Given the description of an element on the screen output the (x, y) to click on. 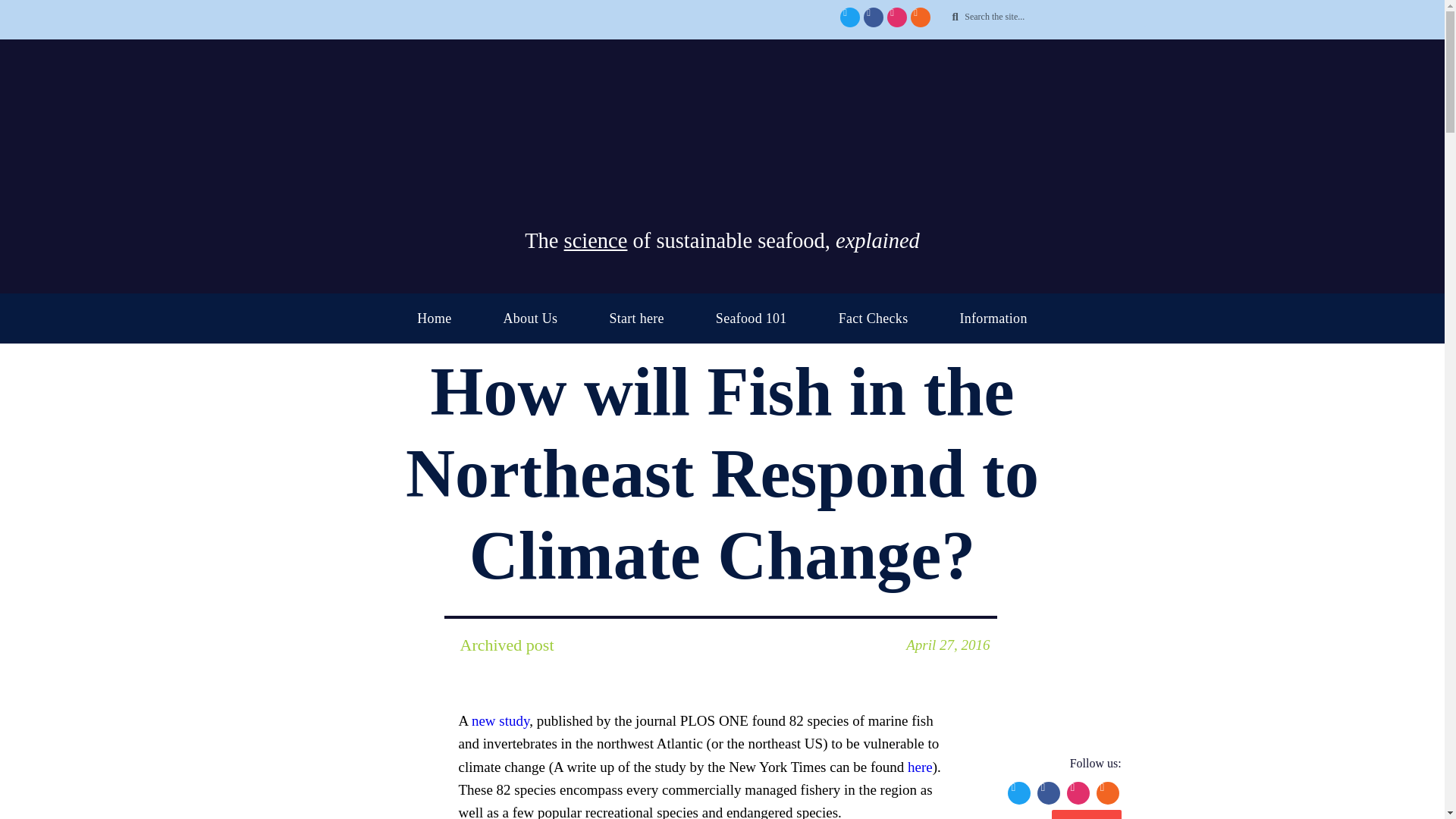
Start here (636, 318)
new study (500, 720)
About Us (529, 318)
Fact Checks (873, 318)
Seafood 101 (751, 318)
Information (992, 318)
Home (433, 318)
here (920, 766)
